Given the description of an element on the screen output the (x, y) to click on. 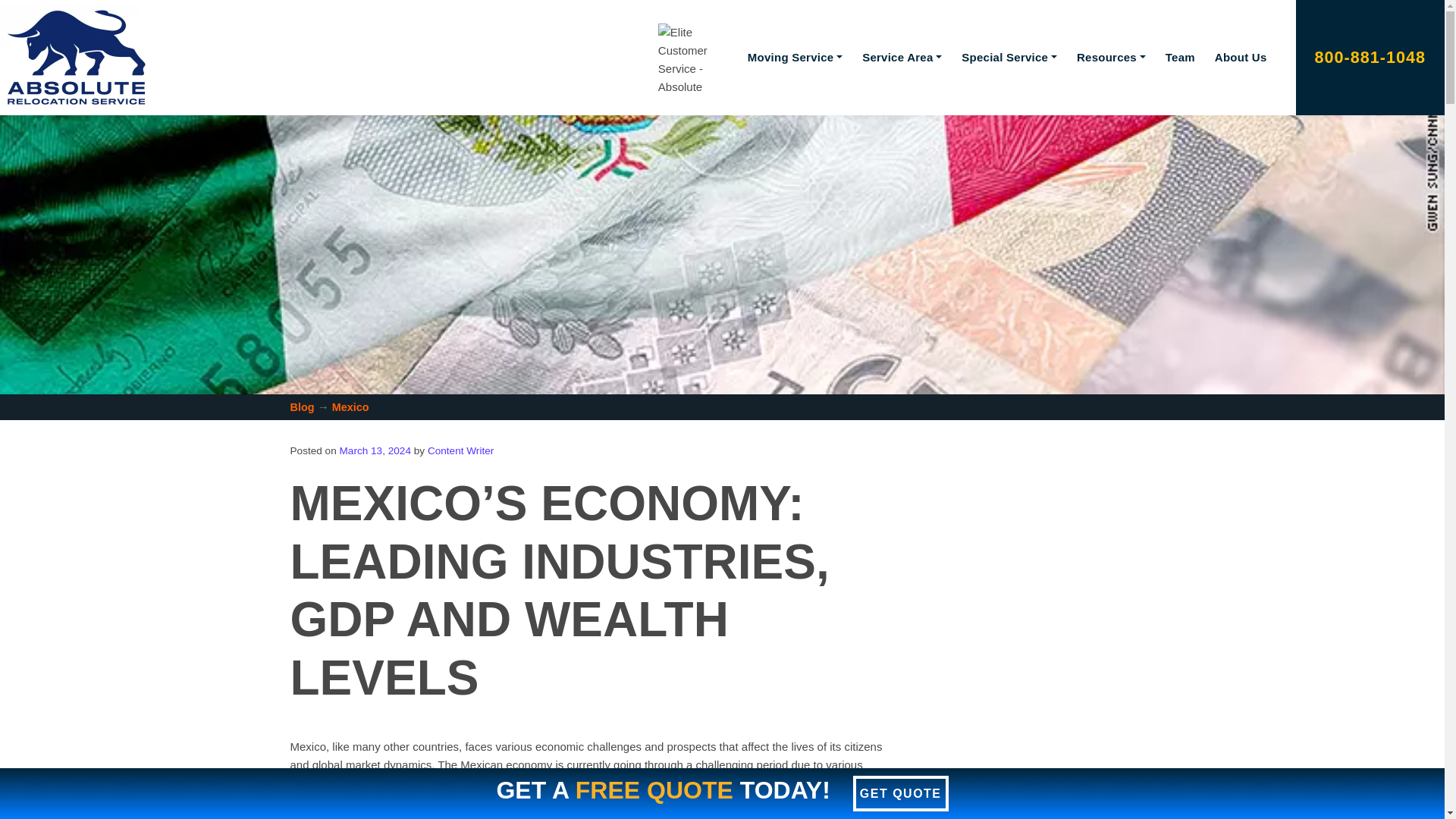
Service Area (901, 57)
Moving Service (794, 57)
Service Area (901, 57)
Moving Service (794, 57)
Special Service (1008, 57)
